Given the description of an element on the screen output the (x, y) to click on. 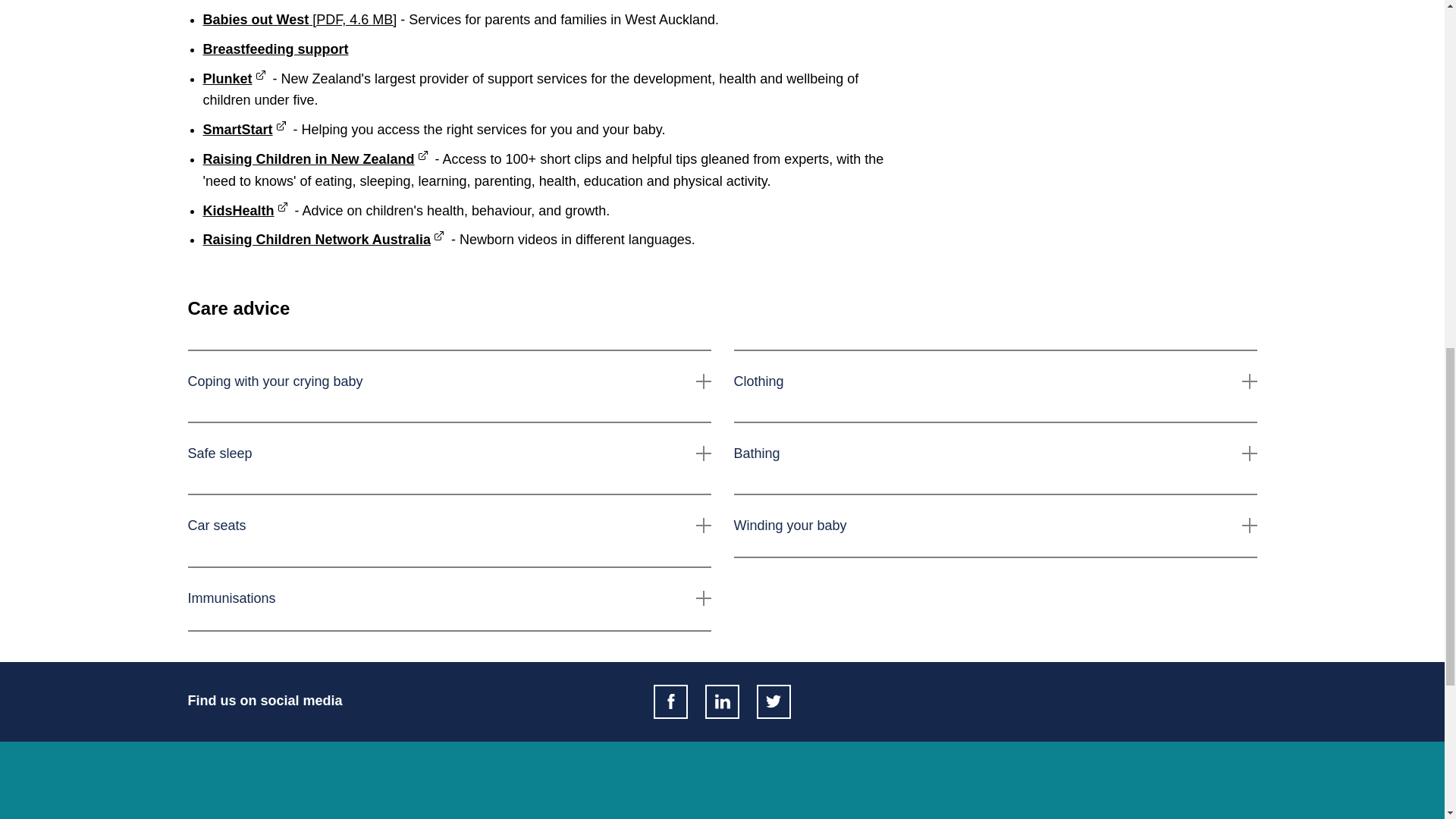
Twitter Page (773, 701)
LinkedIn Page (721, 701)
Facebook Page (670, 701)
